Given the description of an element on the screen output the (x, y) to click on. 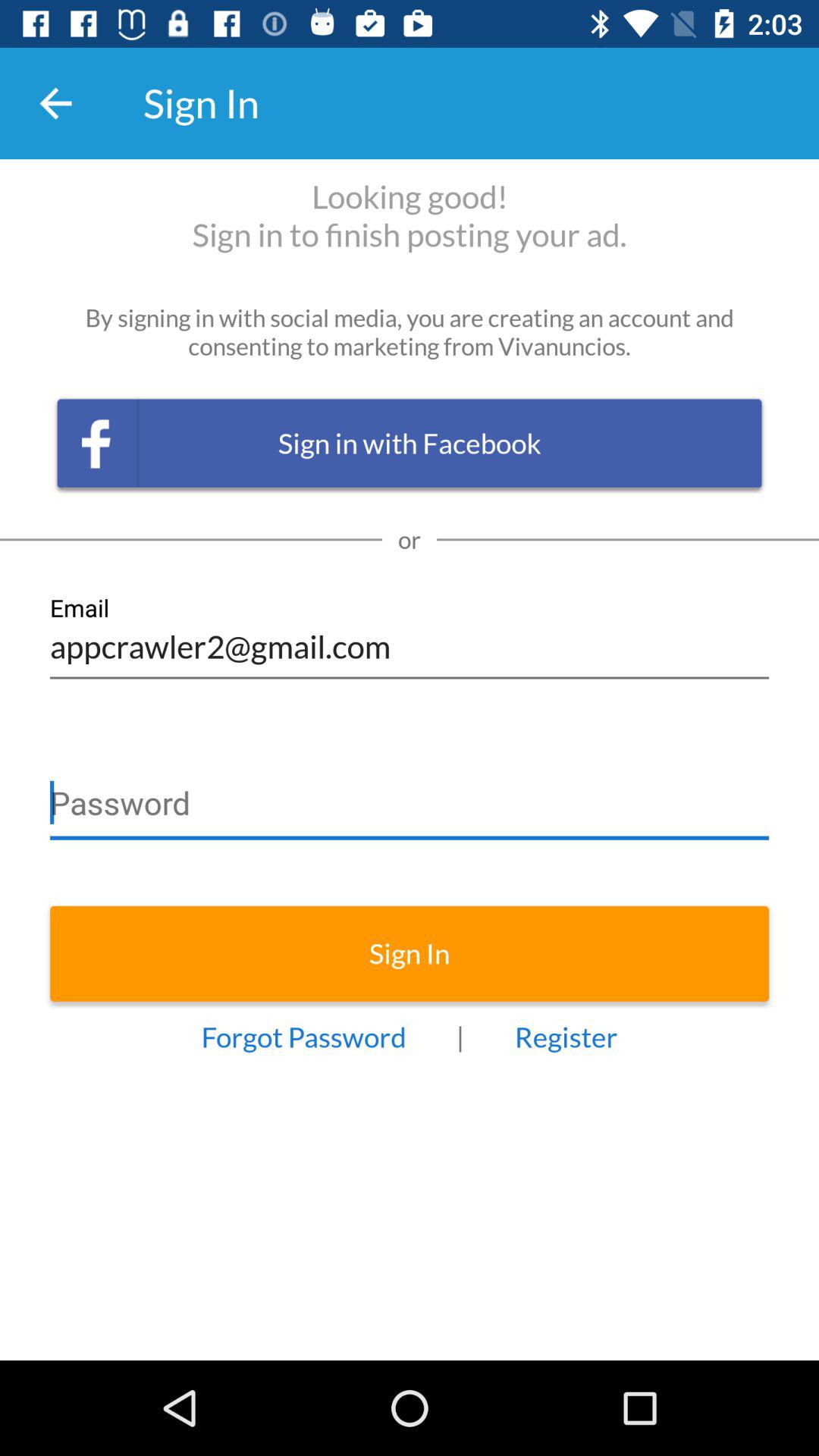
password row (409, 795)
